Given the description of an element on the screen output the (x, y) to click on. 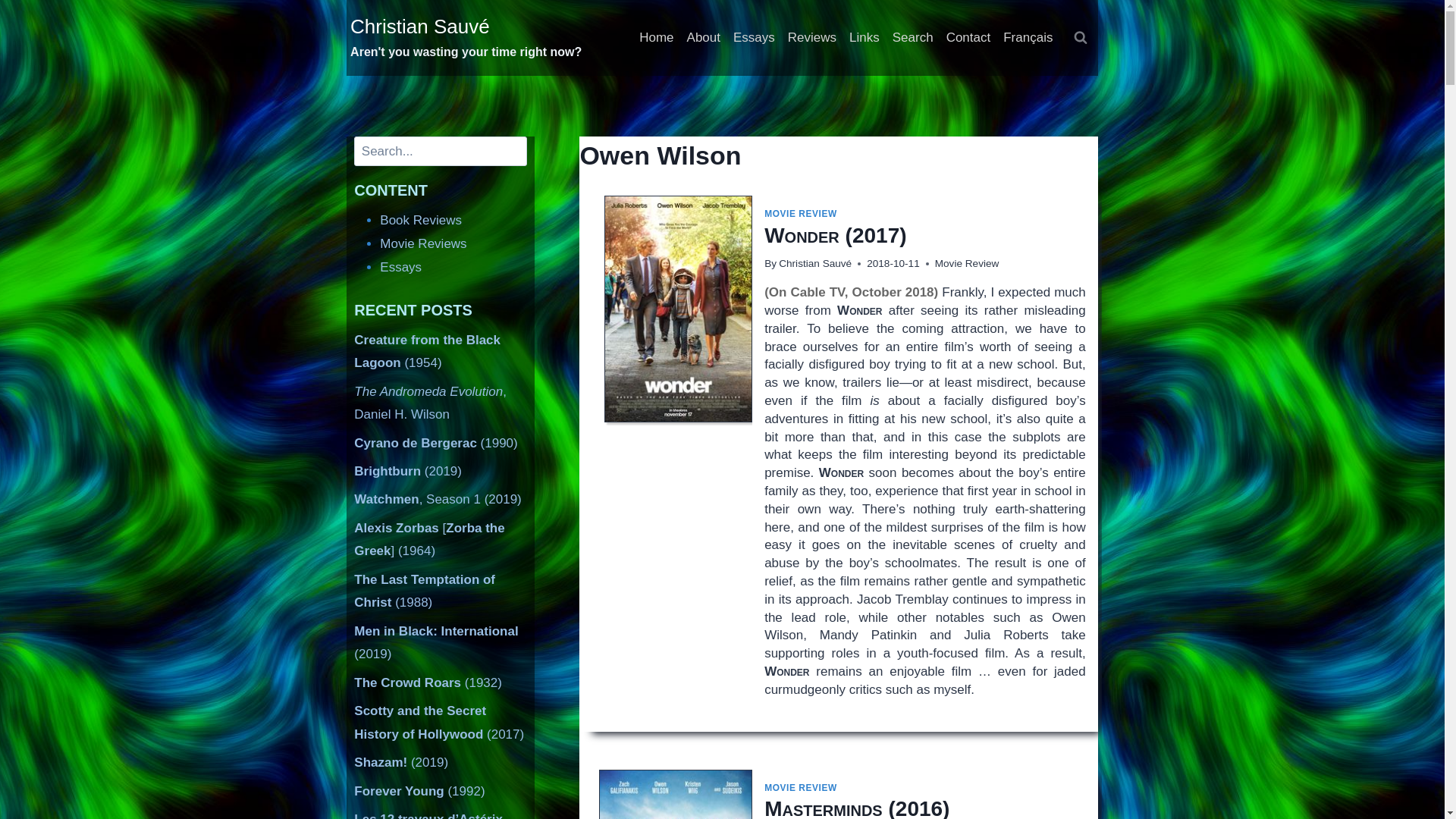
MOVIE REVIEW (800, 213)
Essays (753, 38)
About (702, 38)
Home (656, 38)
Contact (968, 38)
Reviews (811, 38)
Movie Review (966, 263)
MOVIE REVIEW (800, 787)
Links (864, 38)
Search (912, 38)
